Given the description of an element on the screen output the (x, y) to click on. 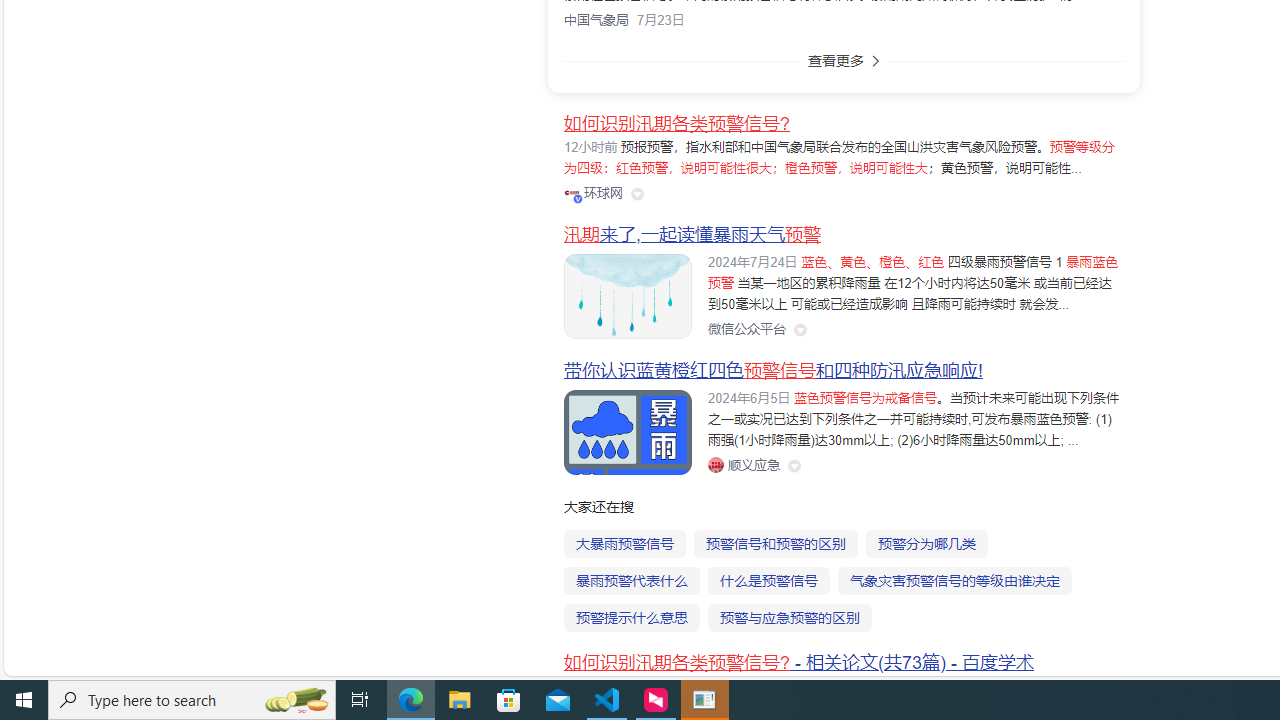
Class: vip-icon_kNmNt (577, 198)
Class: siteLink_9TPP3 (743, 465)
